Given the description of an element on the screen output the (x, y) to click on. 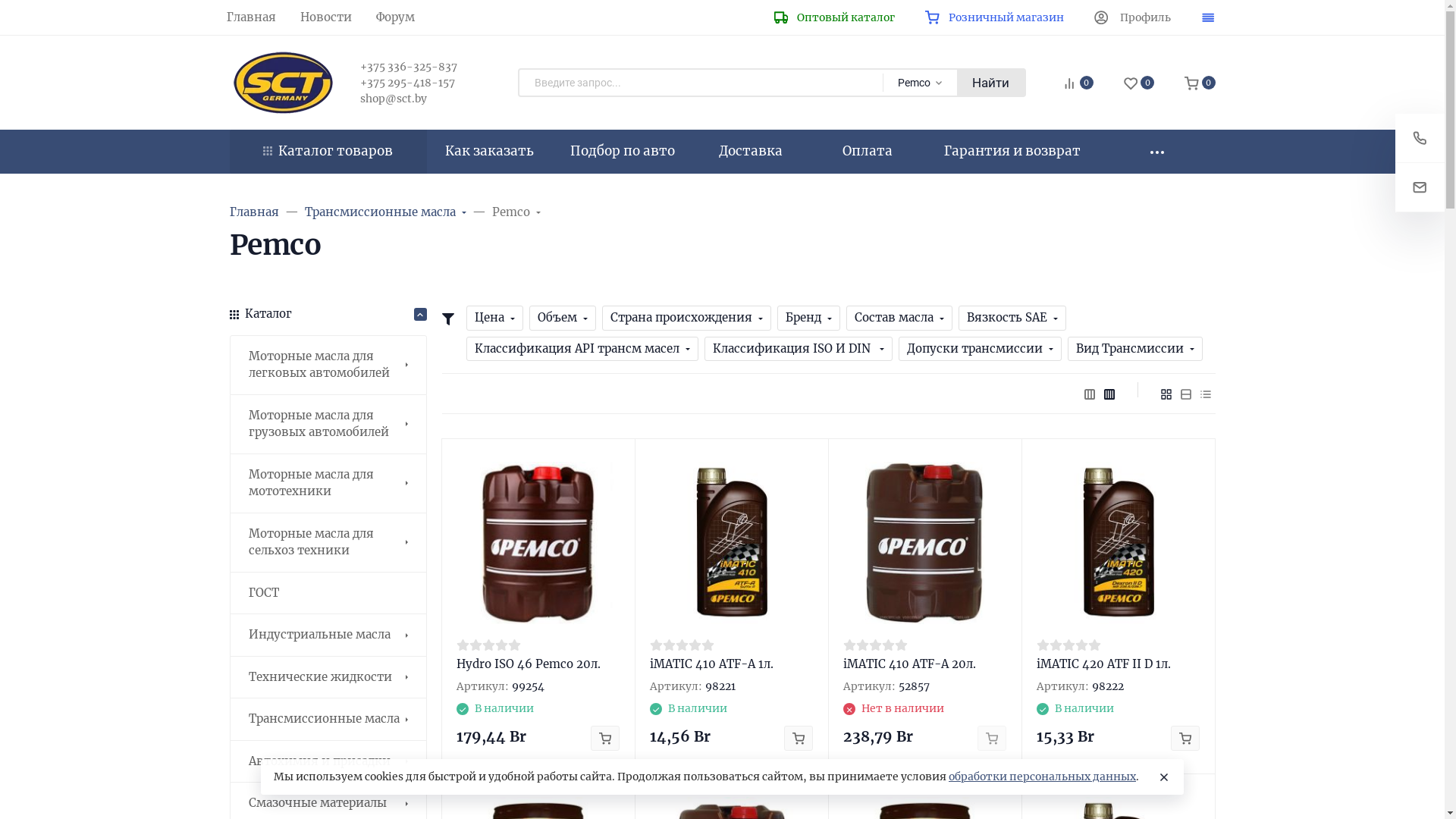
0 Element type: text (1138, 83)
0 Element type: text (1077, 83)
SCT.BY Element type: hover (282, 82)
Pemco Element type: text (515, 212)
0 Element type: text (1199, 83)
